Given the description of an element on the screen output the (x, y) to click on. 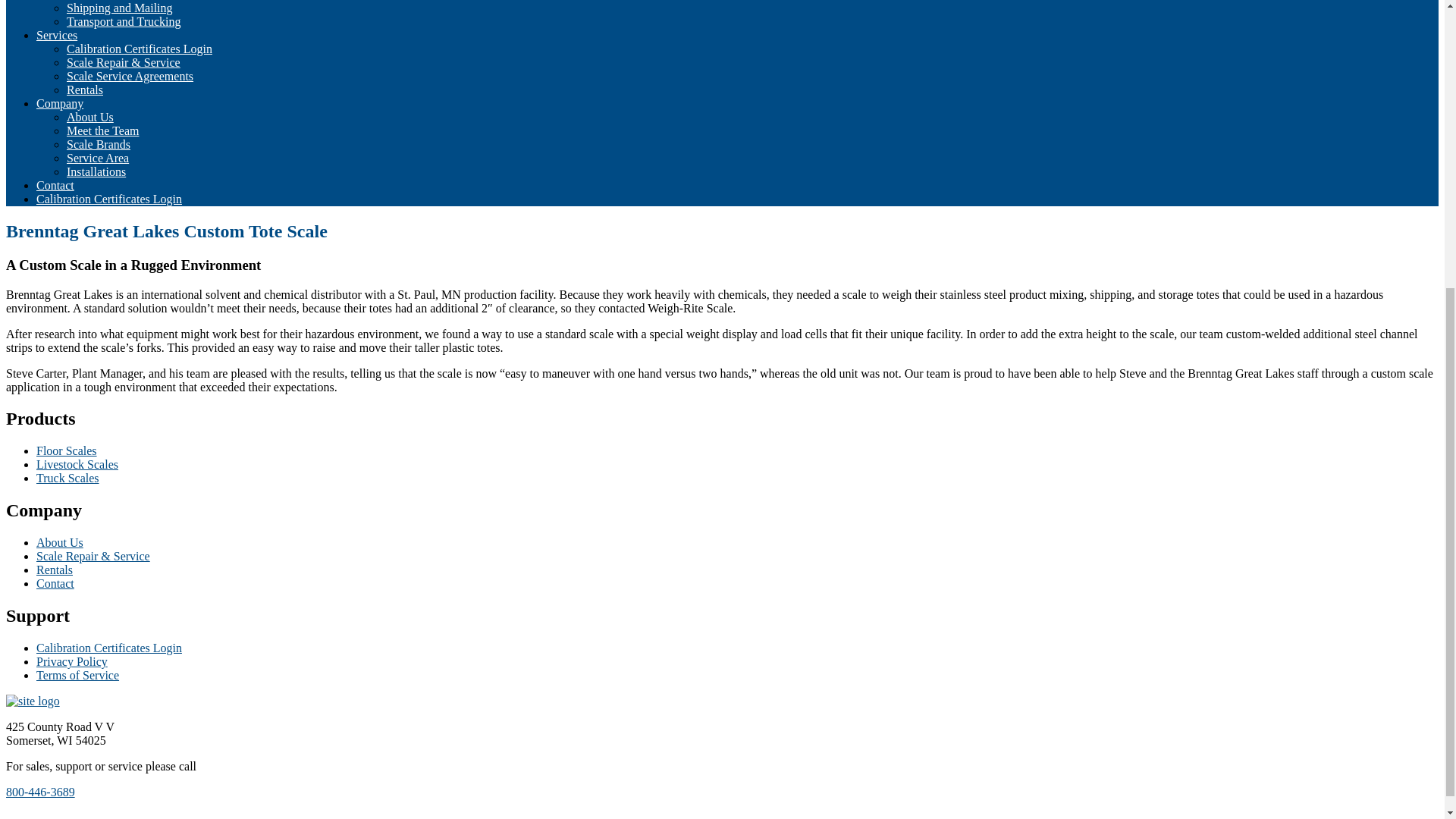
Shipping and Mailing (119, 7)
Scale Service Agreements (129, 75)
Calibration Certificates Login (139, 48)
Services (56, 34)
Rentals (84, 89)
Meet the Team (102, 130)
Company (59, 103)
About Us (89, 116)
Transport and Trucking (123, 21)
